Given the description of an element on the screen output the (x, y) to click on. 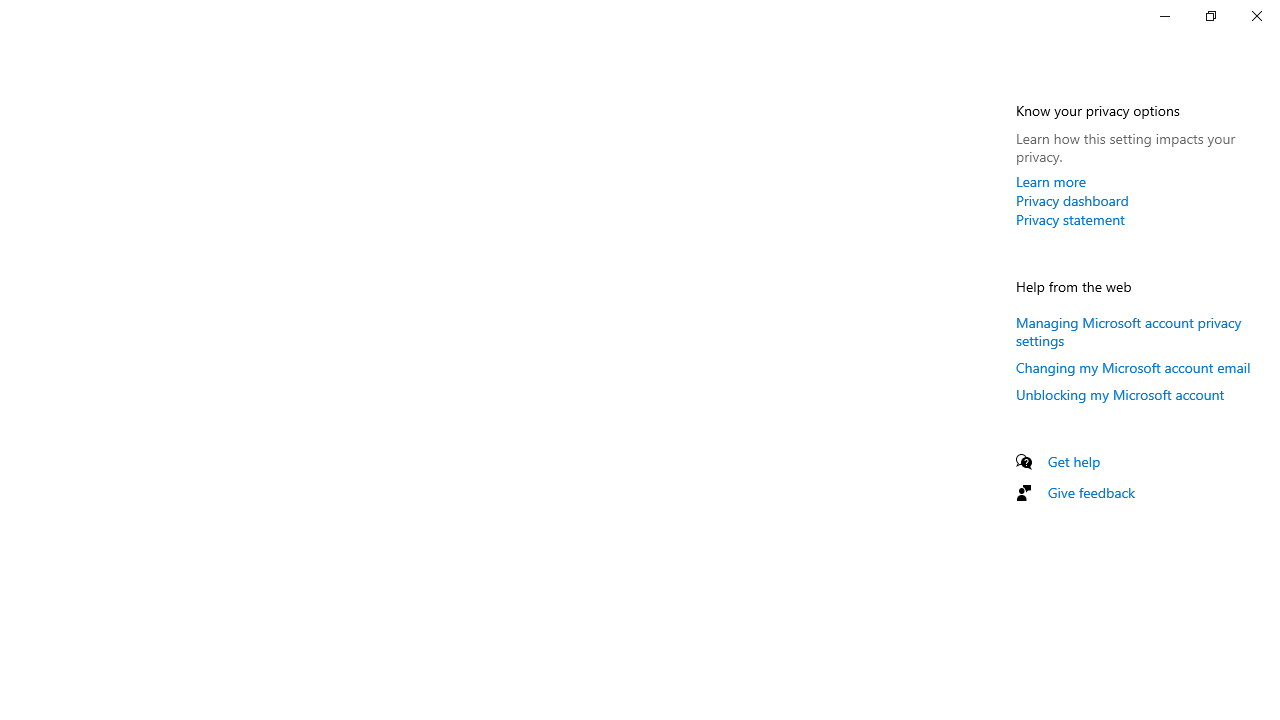
Give feedback (1091, 492)
Restore Settings (1210, 15)
Get help (1074, 461)
Learn more (1051, 181)
Minimize Settings (1164, 15)
Privacy dashboard (1072, 200)
Managing Microsoft account privacy settings (1128, 330)
Changing my Microsoft account email (1133, 367)
Privacy statement (1070, 219)
Close Settings (1256, 15)
Unblocking my Microsoft account (1120, 394)
